Given the description of an element on the screen output the (x, y) to click on. 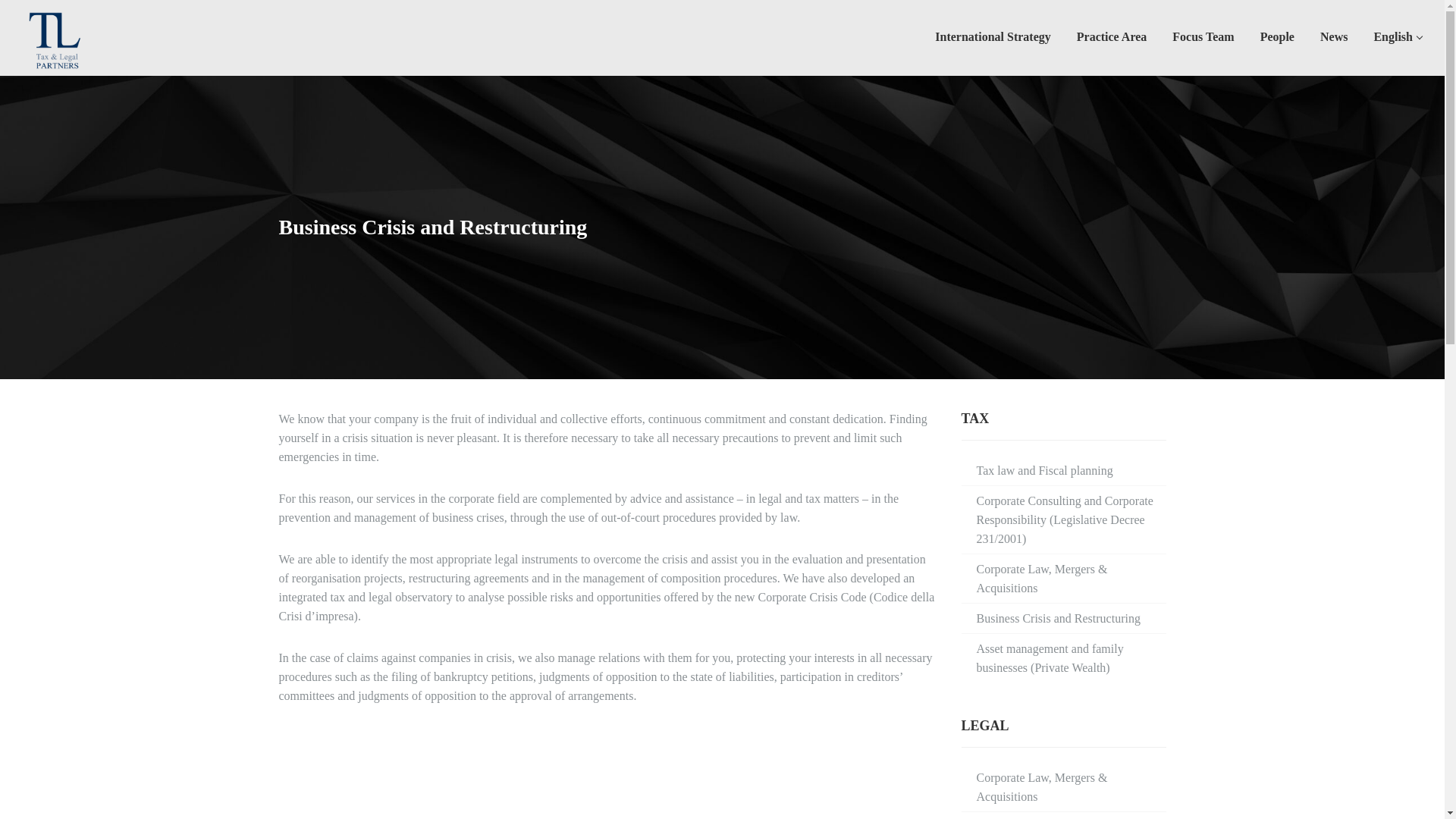
Business Crisis and Restructuring (1058, 617)
Practice Area (1111, 38)
International Strategy (992, 38)
Focus Team (1203, 38)
Tax law and Fiscal planning (1044, 470)
